Given the description of an element on the screen output the (x, y) to click on. 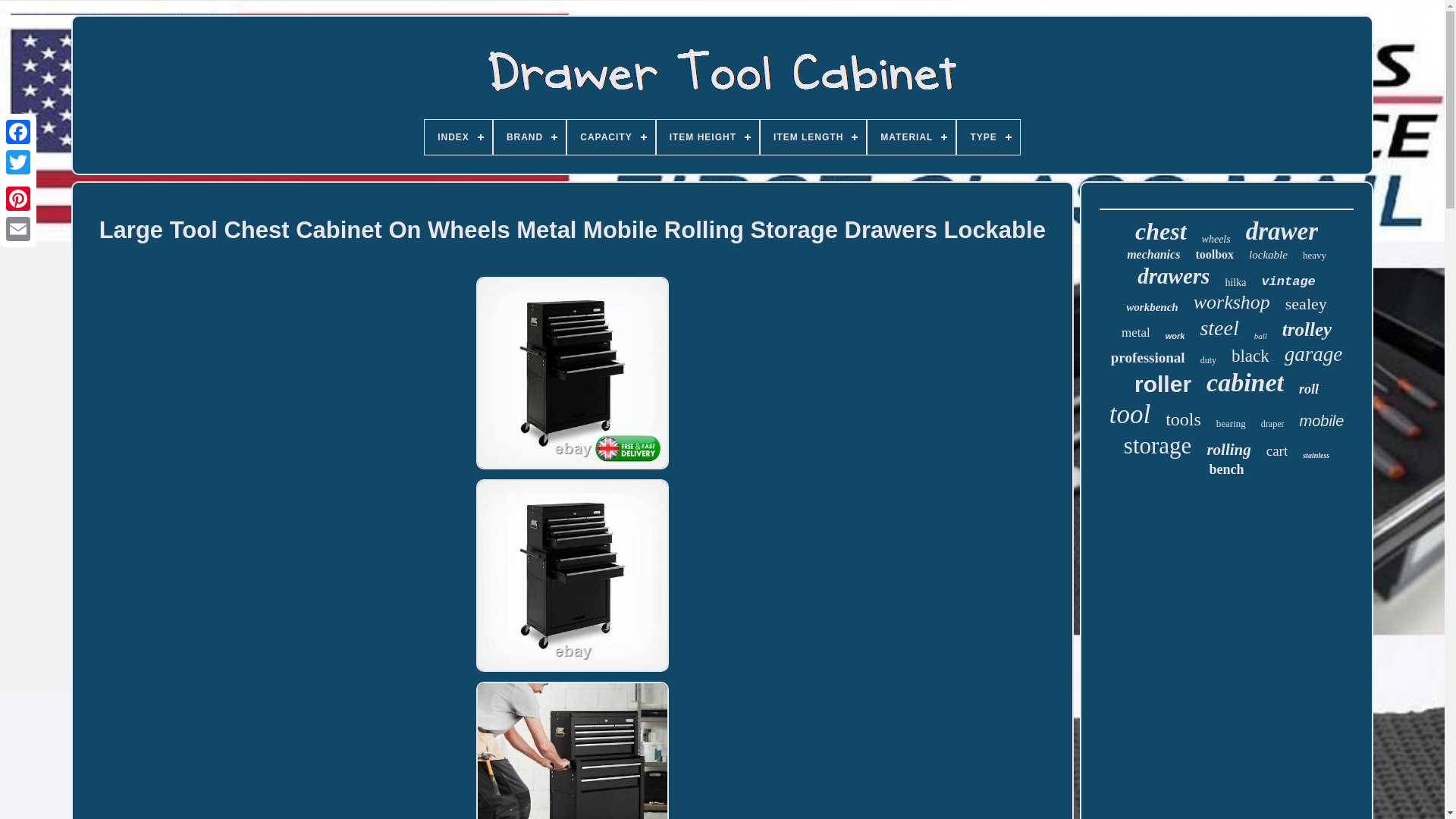
CAPACITY (610, 136)
BRAND (529, 136)
INDEX (458, 136)
Email (17, 228)
